Given the description of an element on the screen output the (x, y) to click on. 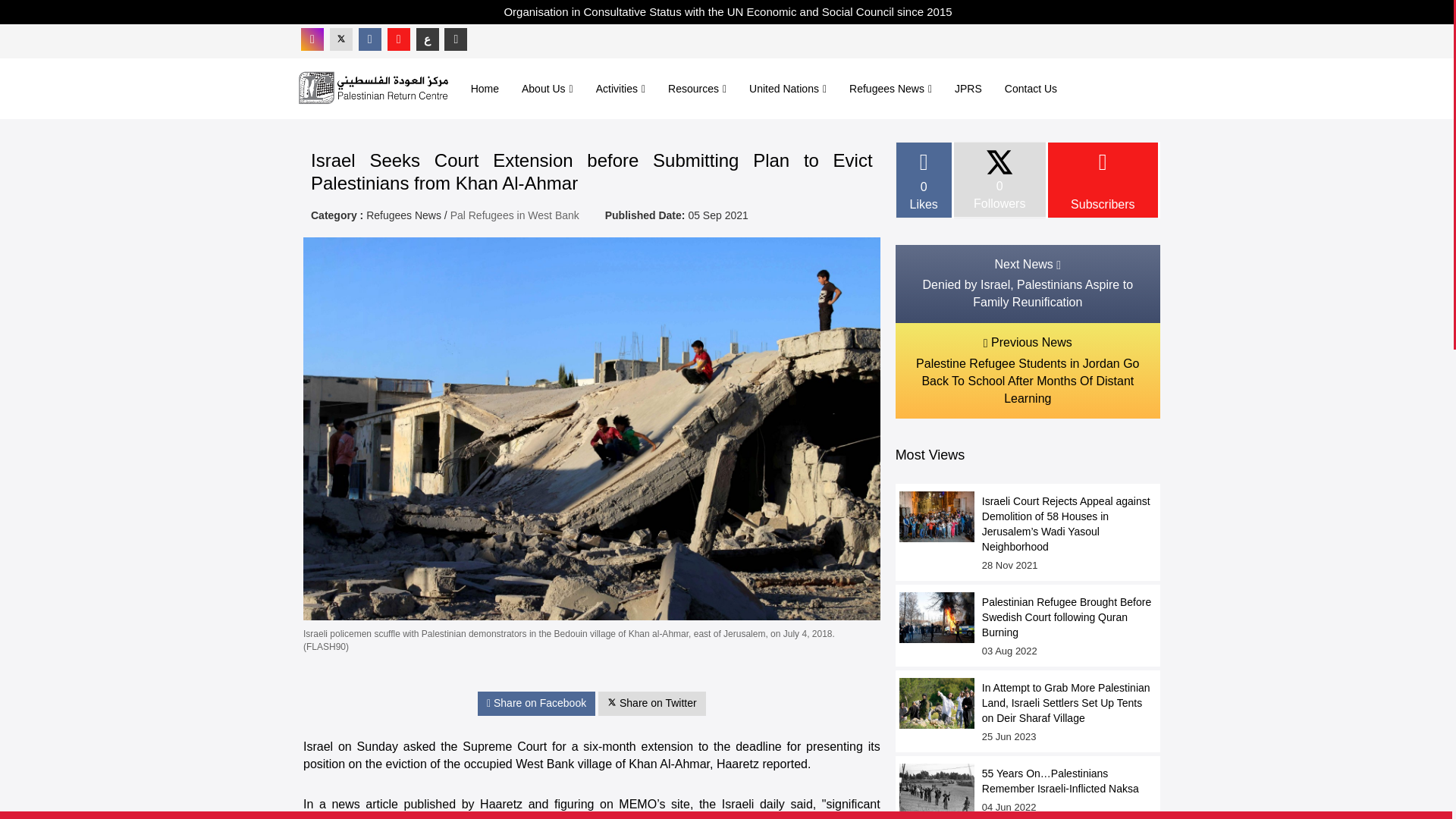
United Nations (788, 88)
Resources (697, 88)
About Us (548, 88)
Arabic (427, 38)
Home (485, 88)
Activities (620, 88)
Refugees News (890, 88)
